Given the description of an element on the screen output the (x, y) to click on. 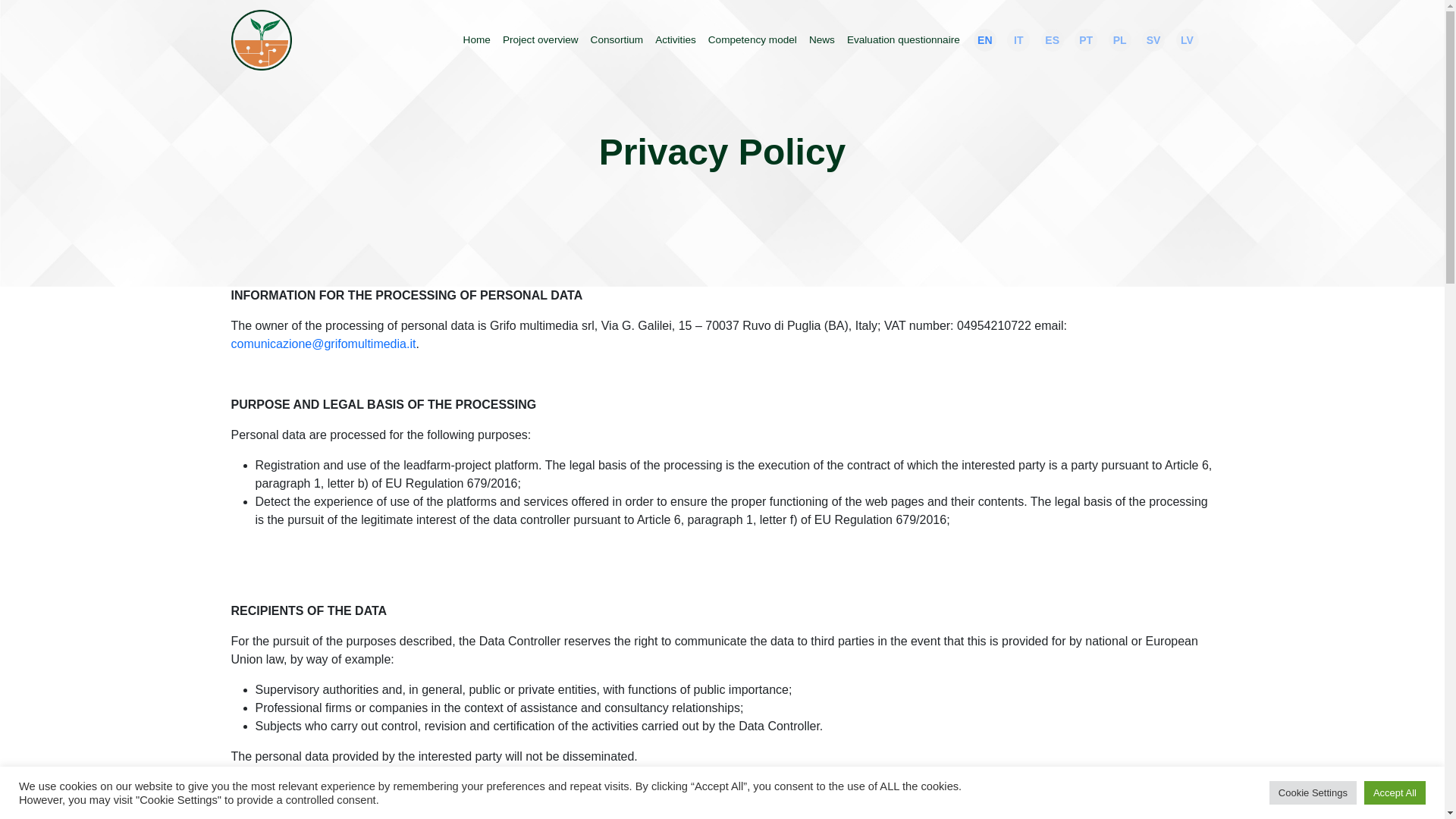
Consortium (617, 40)
Competency model (752, 40)
Evaluation questionnaire (903, 40)
Project overview (540, 40)
Accept All (1394, 792)
Home (476, 40)
Project overview (540, 40)
News (822, 40)
Leadfarm5.0 (260, 39)
Activities (675, 40)
